Given the description of an element on the screen output the (x, y) to click on. 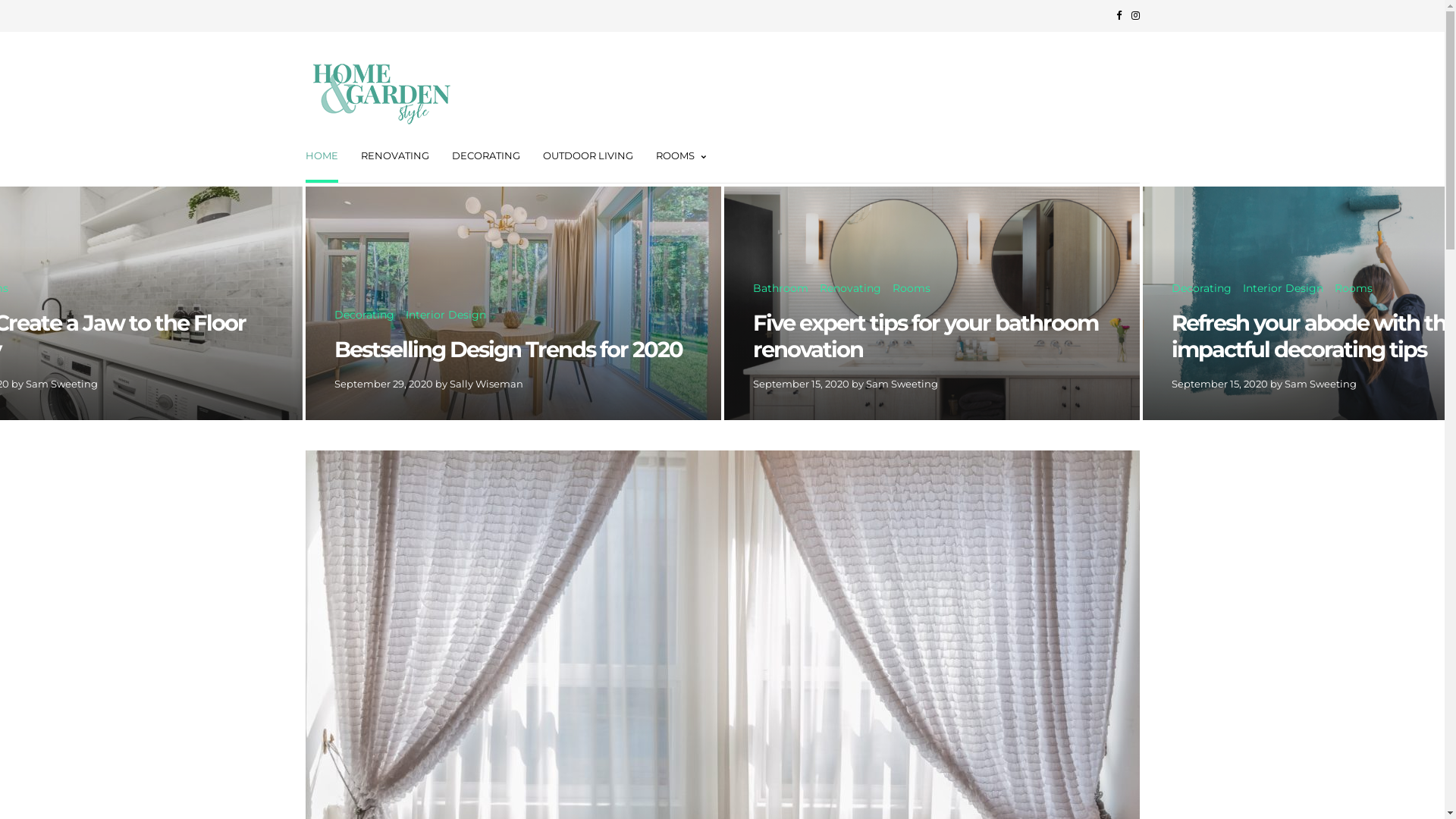
Sam Sweeting Element type: text (1320, 383)
Renovating Element type: text (849, 288)
ROOMS Element type: text (680, 157)
DECORATING Element type: text (485, 157)
Interior Design Element type: text (444, 315)
Interior Design Element type: text (1282, 288)
Decorating Element type: text (363, 315)
HOME Element type: text (320, 157)
Rooms Element type: text (1353, 288)
Bestselling Design Trends for 2020 Element type: text (512, 349)
OUTDOOR LIVING Element type: text (587, 157)
Sally Wiseman Element type: text (485, 383)
Rooms Element type: text (910, 288)
Sam Sweeting Element type: text (902, 383)
Bathroom Element type: text (779, 288)
Sam Sweeting Element type: text (61, 383)
Five expert tips for your bathroom renovation Element type: text (931, 336)
Decorating Element type: text (1200, 288)
RENOVATING Element type: text (394, 157)
